Given the description of an element on the screen output the (x, y) to click on. 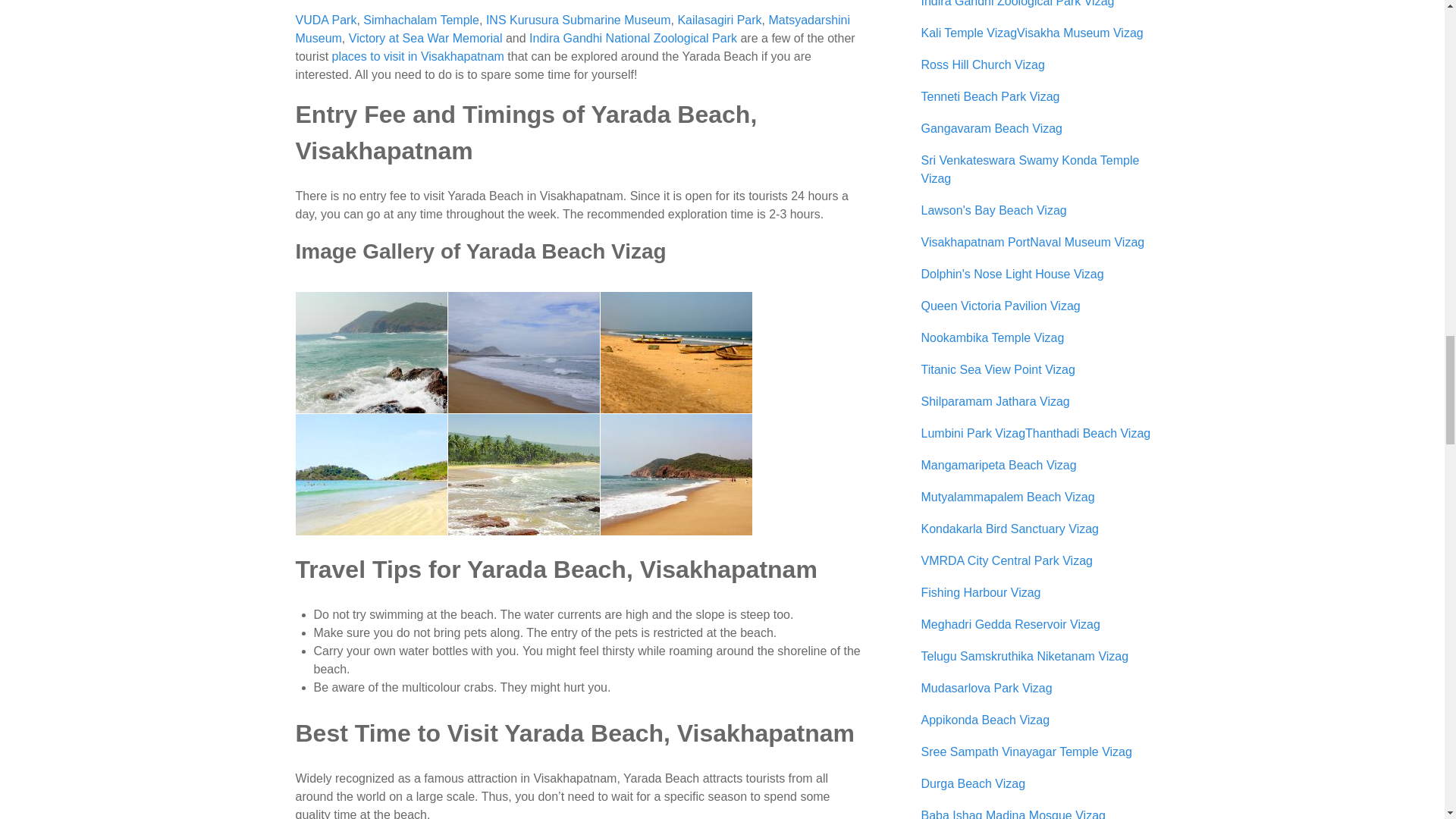
places to visit in Visakhapatnam (417, 56)
INS Kurusura Submarine Museum (578, 19)
Indira Gandhi National Zoological Park (632, 38)
Simhachalam Temple (420, 19)
VUDA Park (325, 19)
Victory at Sea War Memorial (425, 38)
Kailasagiri Park (719, 19)
Matsyadarshini Museum (572, 29)
